Given the description of an element on the screen output the (x, y) to click on. 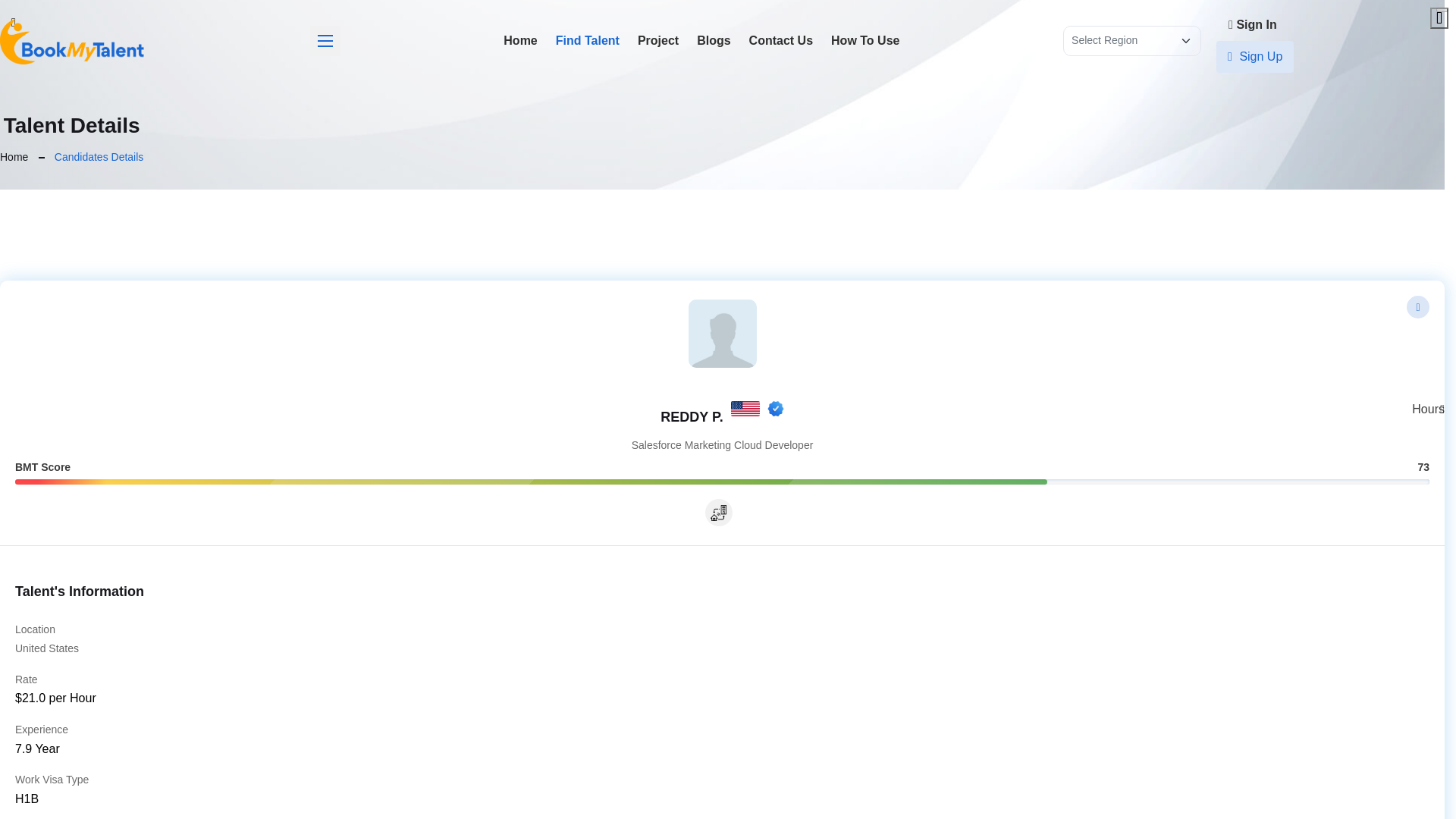
Sign Up (1254, 56)
Toggle navigation (325, 40)
Select Region (1131, 40)
REDDY P. (691, 407)
Home (13, 156)
Project (657, 40)
How To Use (865, 40)
Bookmark (1417, 306)
Find Talent (587, 40)
Contact Us (780, 40)
United States (745, 408)
Sign In (1254, 24)
Blogs (713, 40)
Home (520, 40)
